Given the description of an element on the screen output the (x, y) to click on. 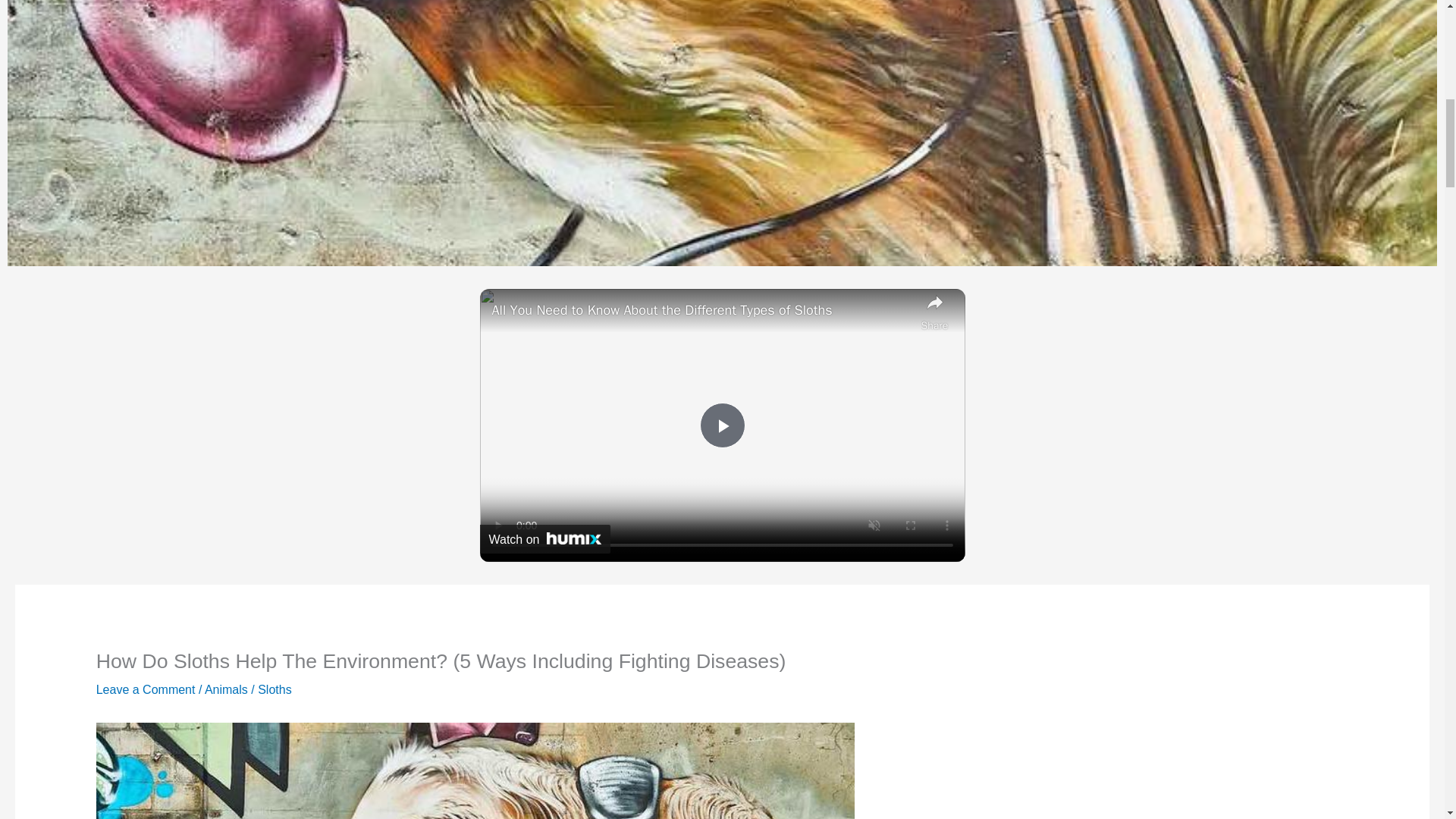
Watch on (544, 538)
Play Video (721, 424)
All You Need to Know About the Different Types of Sloths (702, 310)
Sloths (274, 689)
Leave a Comment (145, 689)
Animals (226, 689)
Play Video (721, 424)
